Given the description of an element on the screen output the (x, y) to click on. 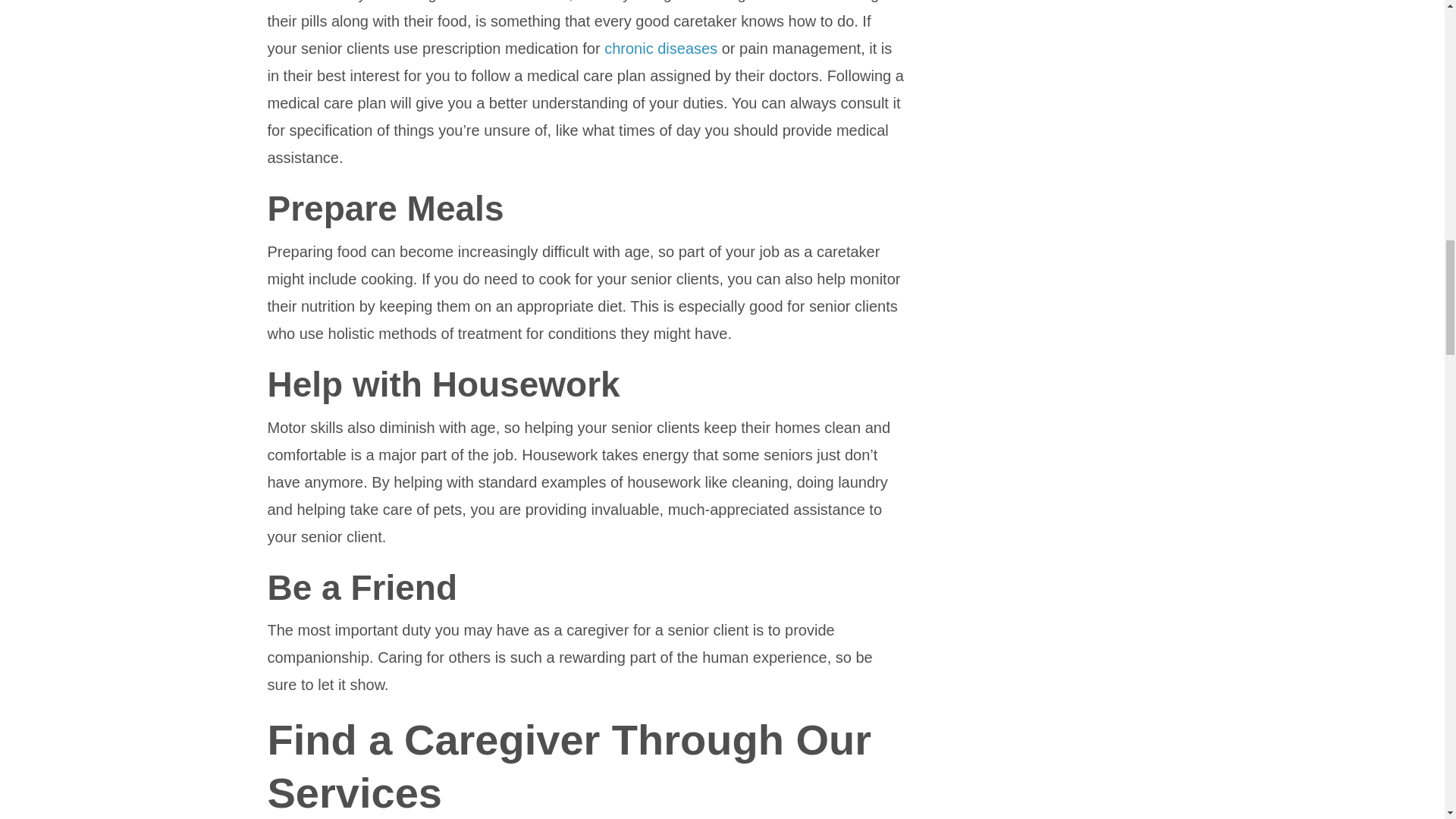
chronic diseases (660, 48)
